Given the description of an element on the screen output the (x, y) to click on. 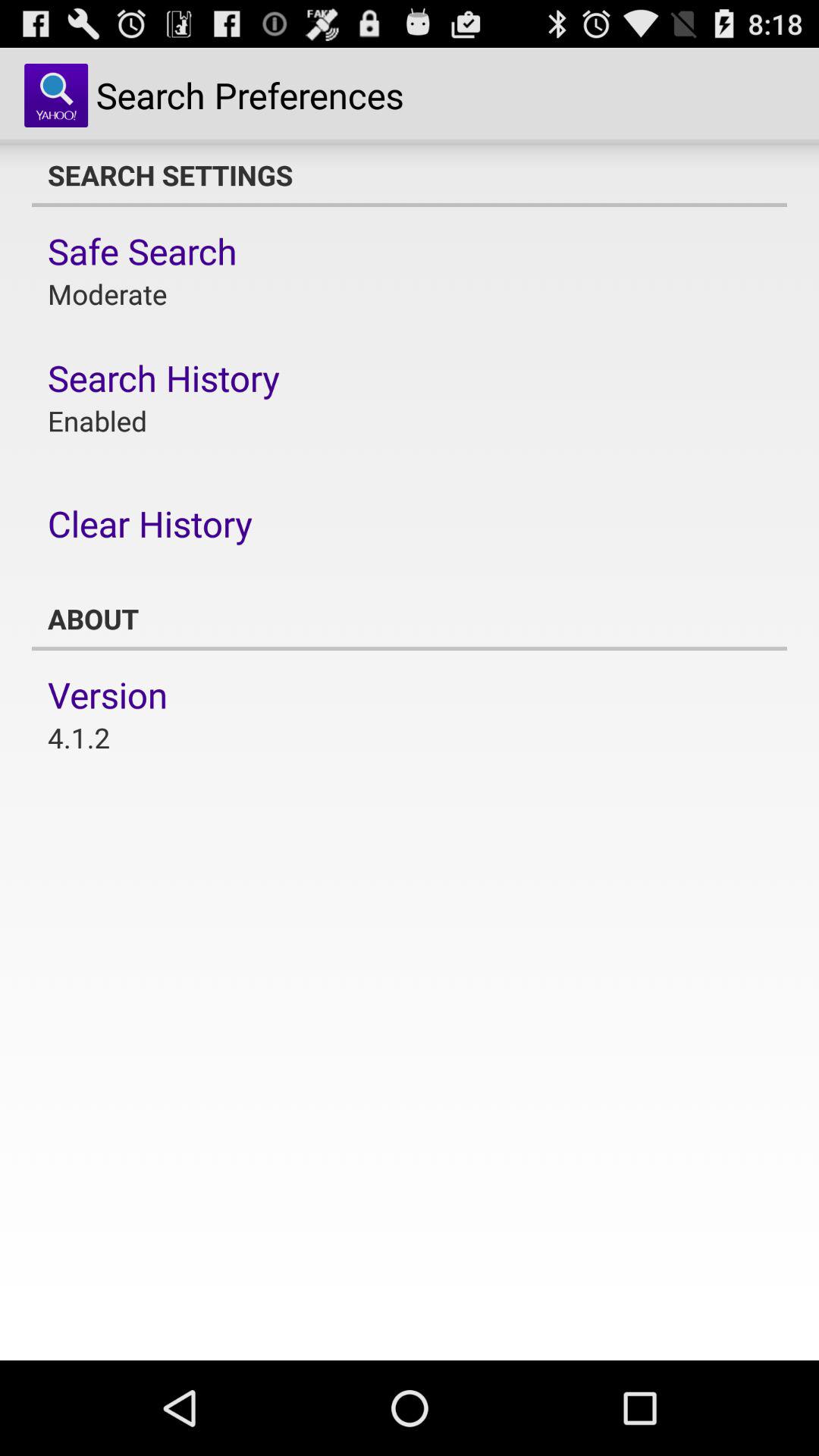
press moderate app (107, 293)
